Given the description of an element on the screen output the (x, y) to click on. 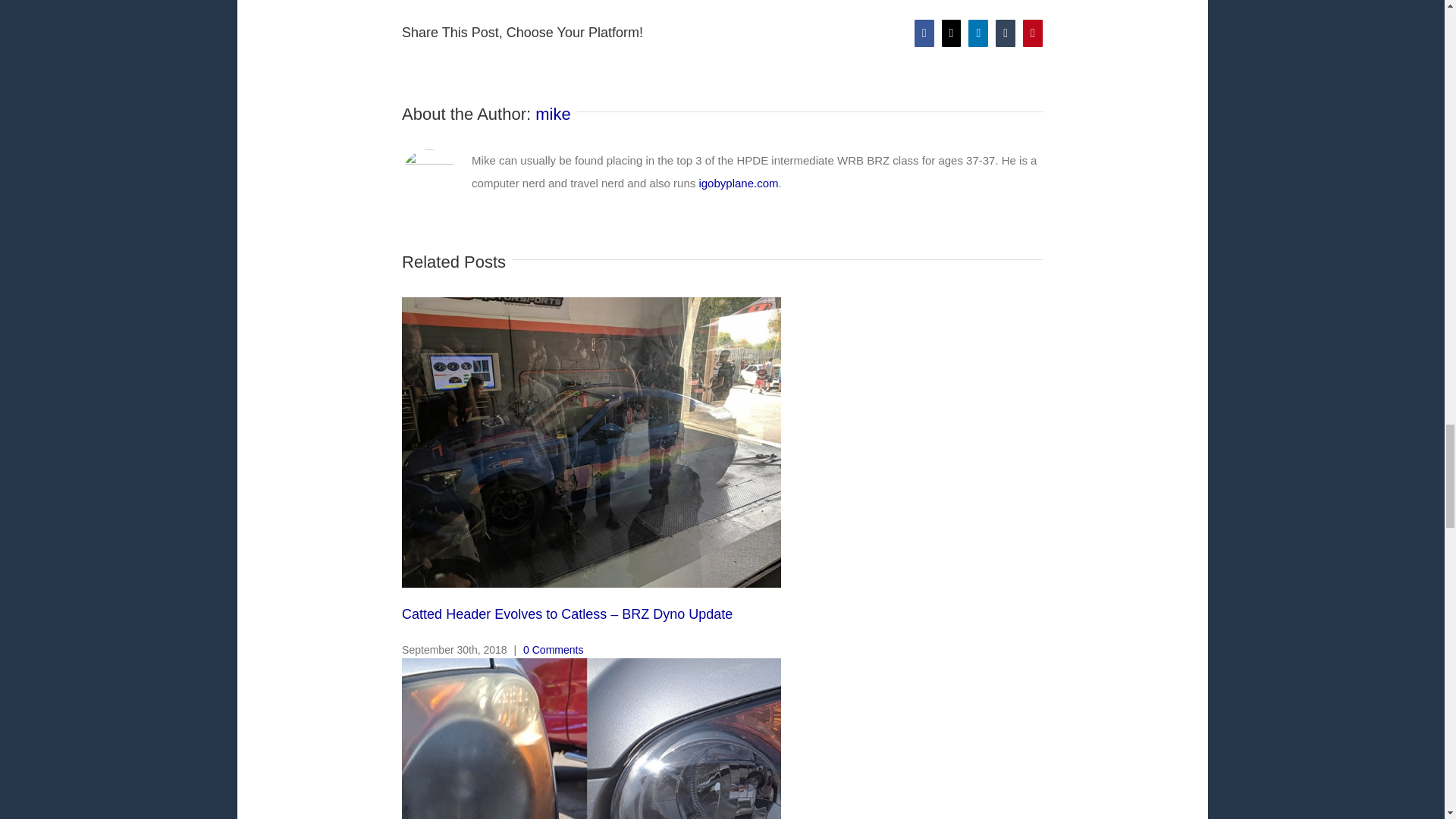
igobyplane.com (737, 182)
mike (552, 113)
0 Comments (552, 649)
Posts by mike (552, 113)
